Given the description of an element on the screen output the (x, y) to click on. 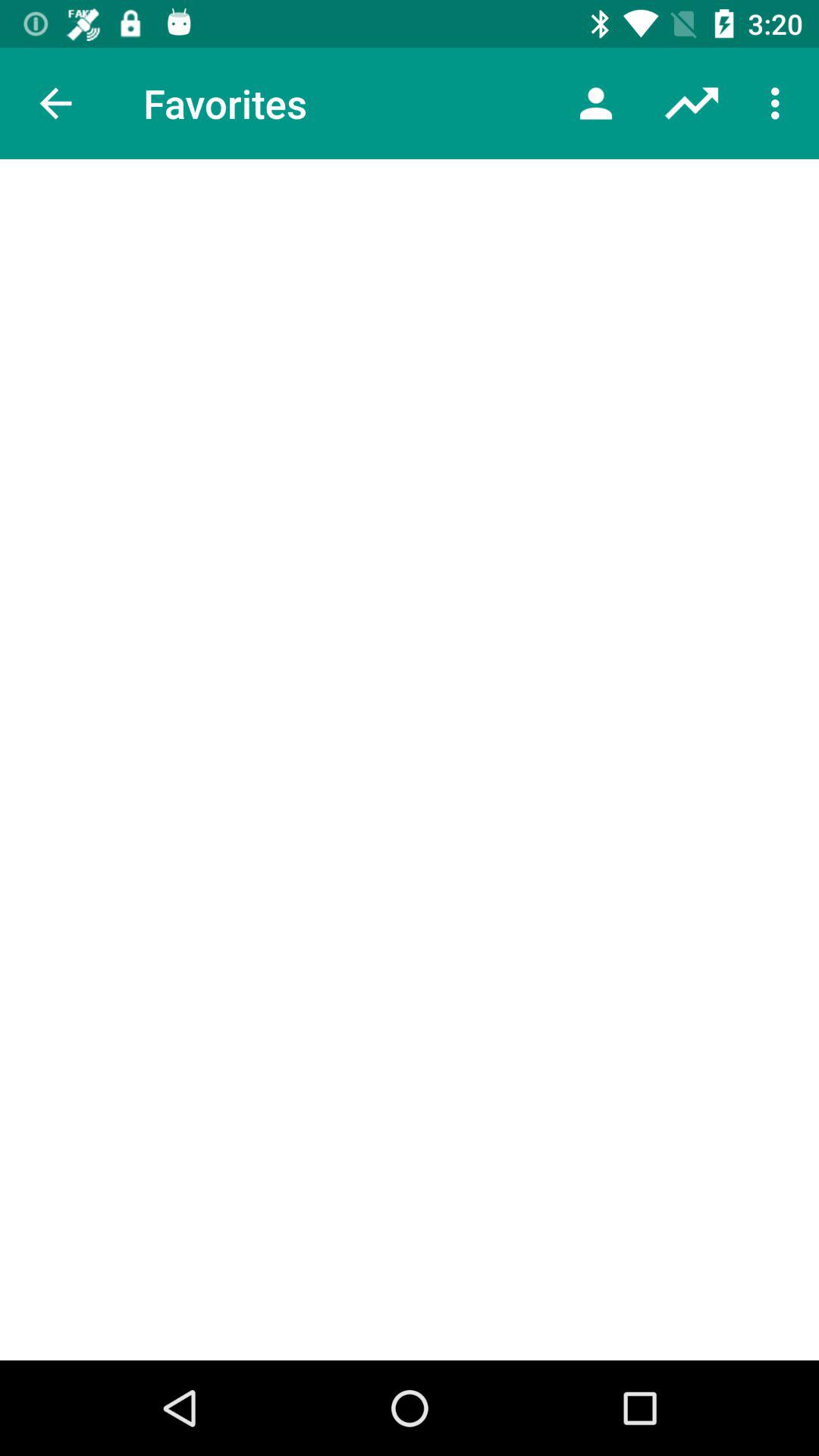
tap the item to the left of favorites item (55, 103)
